Given the description of an element on the screen output the (x, y) to click on. 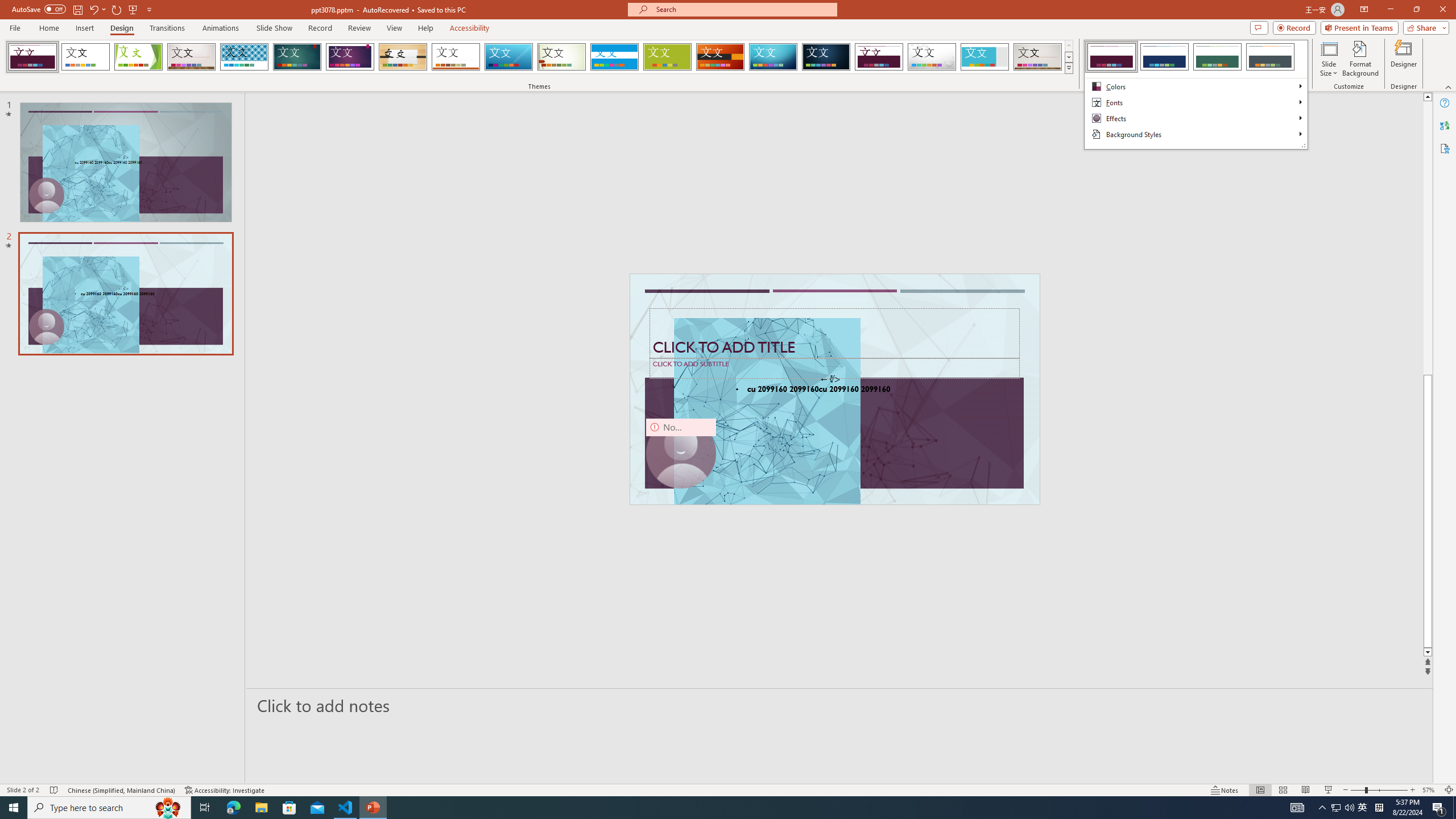
Retrospect (455, 56)
Slide Size (1328, 58)
